Given the description of an element on the screen output the (x, y) to click on. 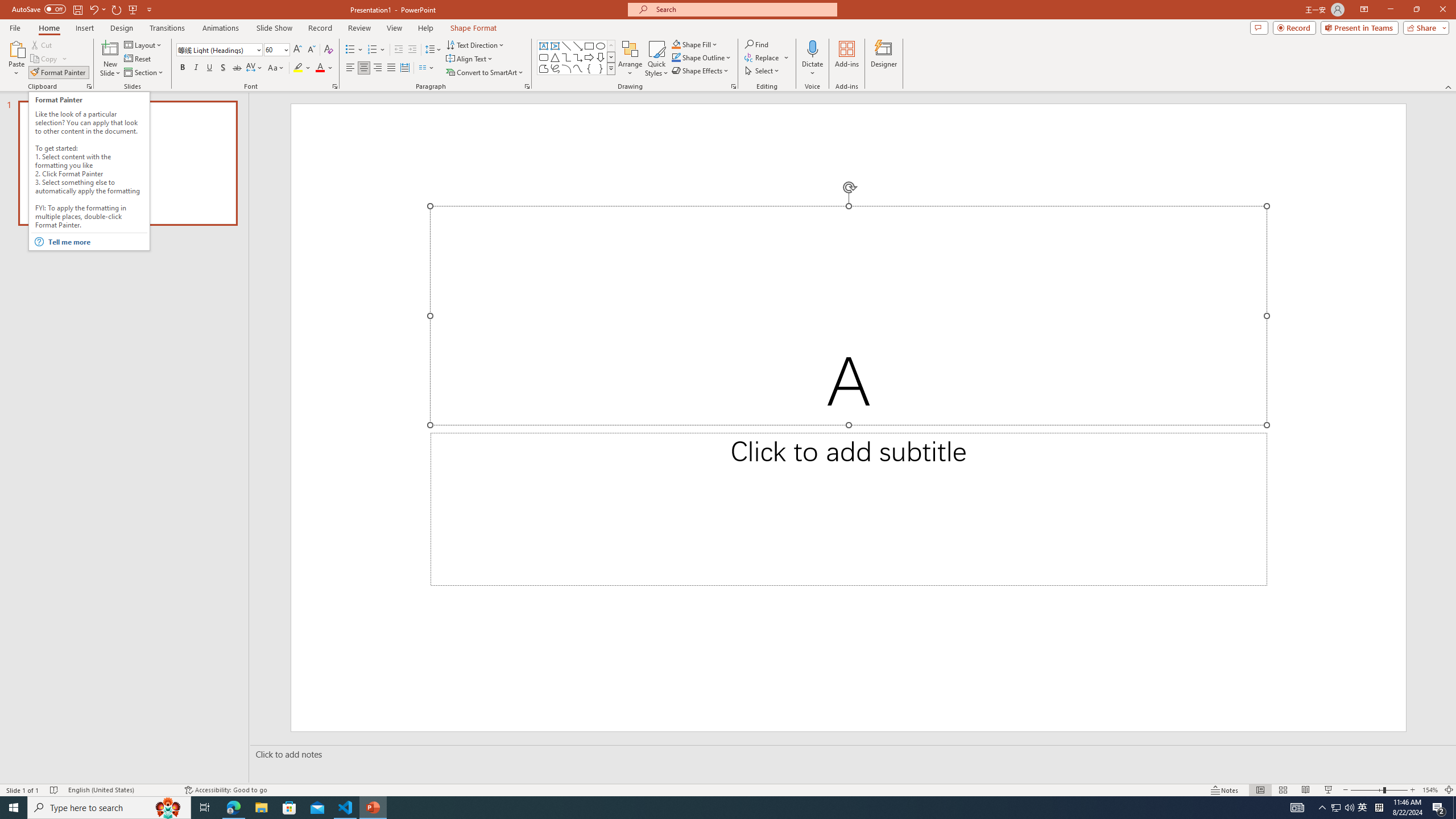
System (6, 6)
Text Box (543, 45)
Font Size (273, 49)
Paste (16, 48)
Design (122, 28)
Isosceles Triangle (554, 57)
Select (762, 69)
Justify (390, 67)
Shadow (223, 67)
Format Object... (733, 85)
Bullets (349, 49)
Replace... (767, 56)
Connector: Elbow (566, 57)
Shapes (611, 68)
